Given the description of an element on the screen output the (x, y) to click on. 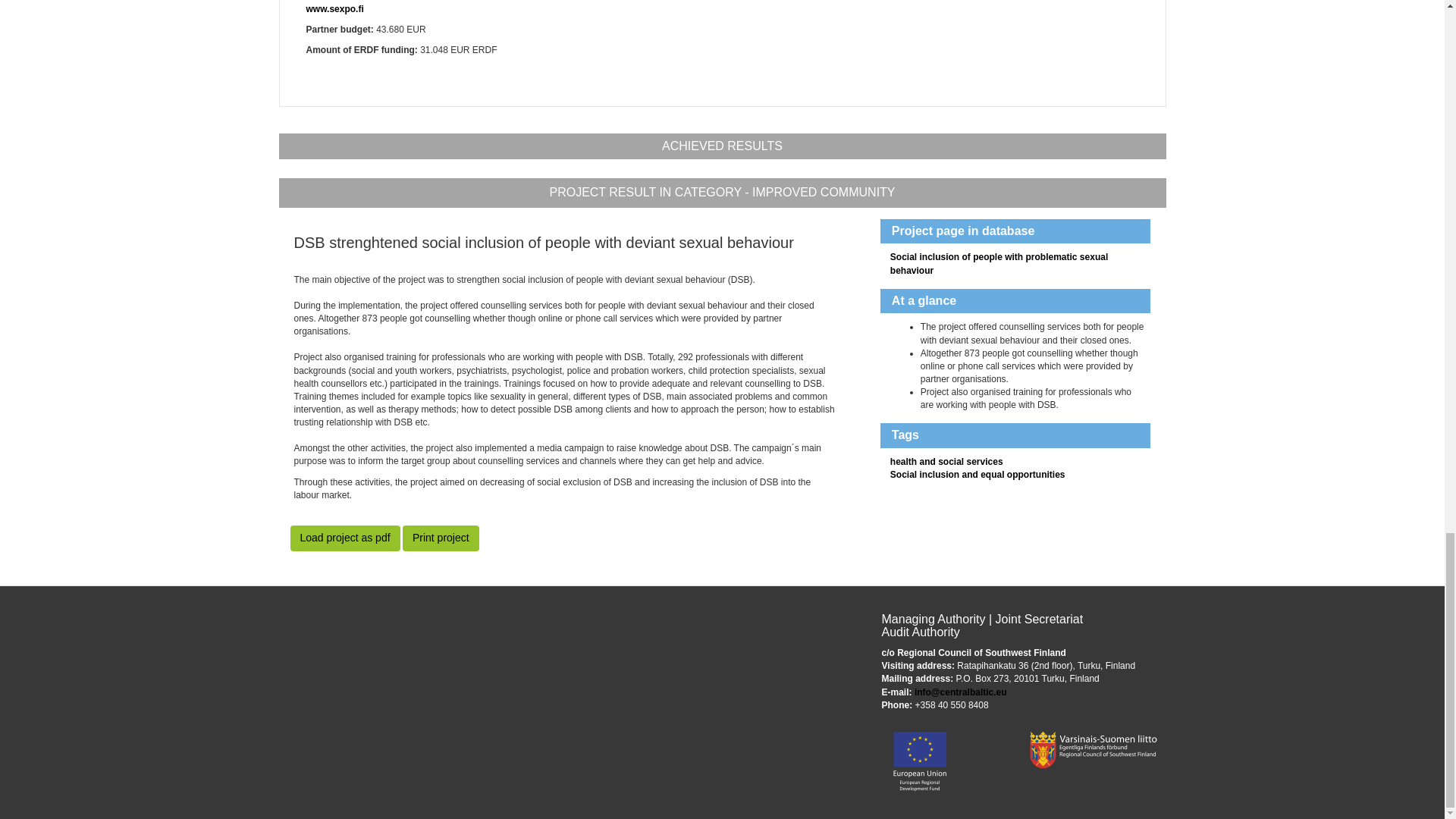
Social inclusion and equal opportunities (977, 474)
Print project (441, 538)
Load project as pdf (343, 538)
health and social services (946, 461)
Social inclusion of people with problematic sexual behaviour (998, 263)
www.sexpo.fi (334, 9)
